Given the description of an element on the screen output the (x, y) to click on. 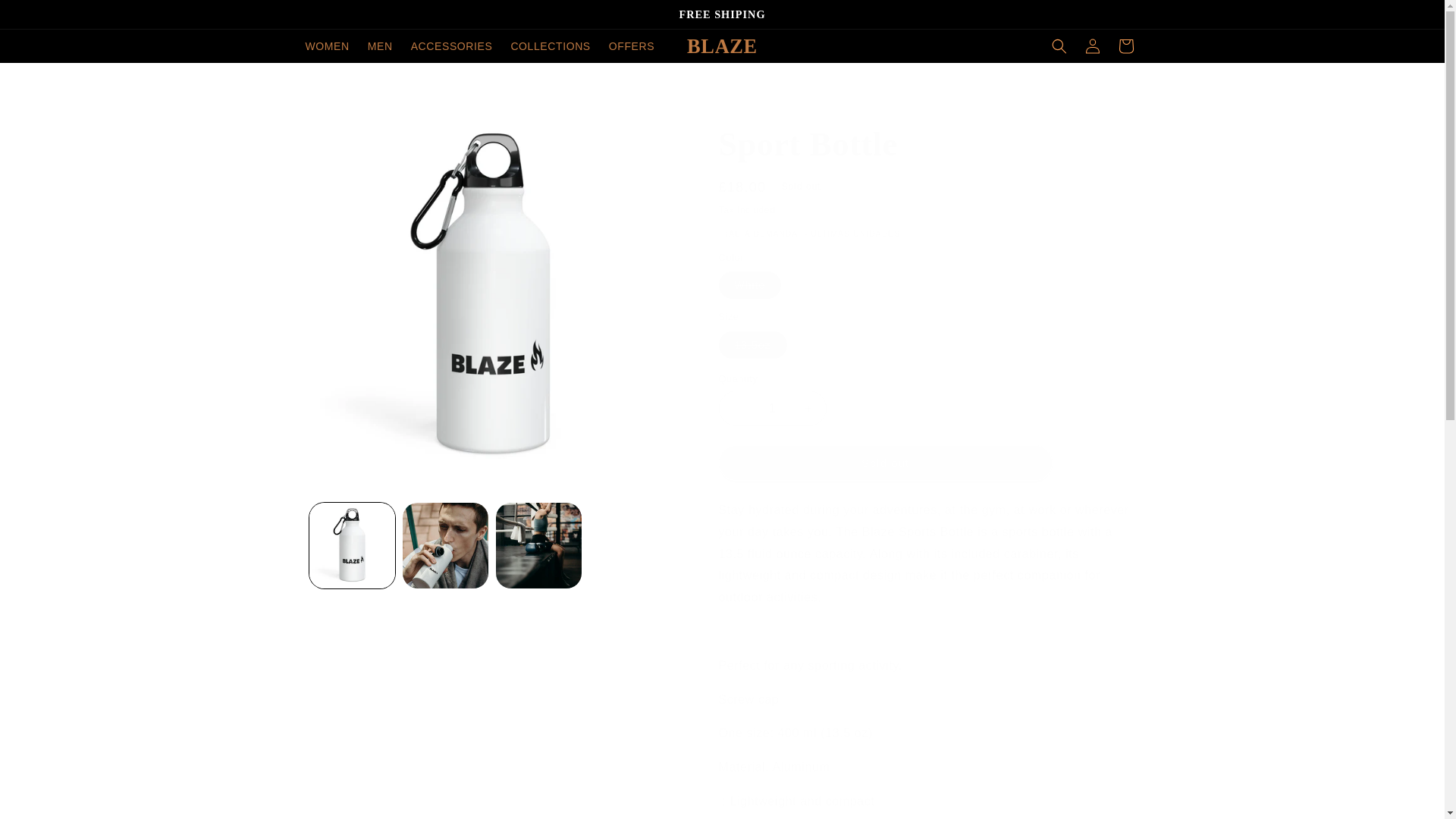
Decrease quantity for Sport Bottle (735, 407)
Skip to content (45, 17)
Cart (1124, 46)
Increase quantity for Sport Bottle (808, 407)
WOMEN (326, 46)
Skip to product information (350, 125)
COLLECTIONS (549, 46)
1 (773, 407)
MEN (379, 46)
ACCESSORIES (451, 46)
Log in (1091, 46)
OFFERS (631, 46)
Sold out (885, 462)
